Given the description of an element on the screen output the (x, y) to click on. 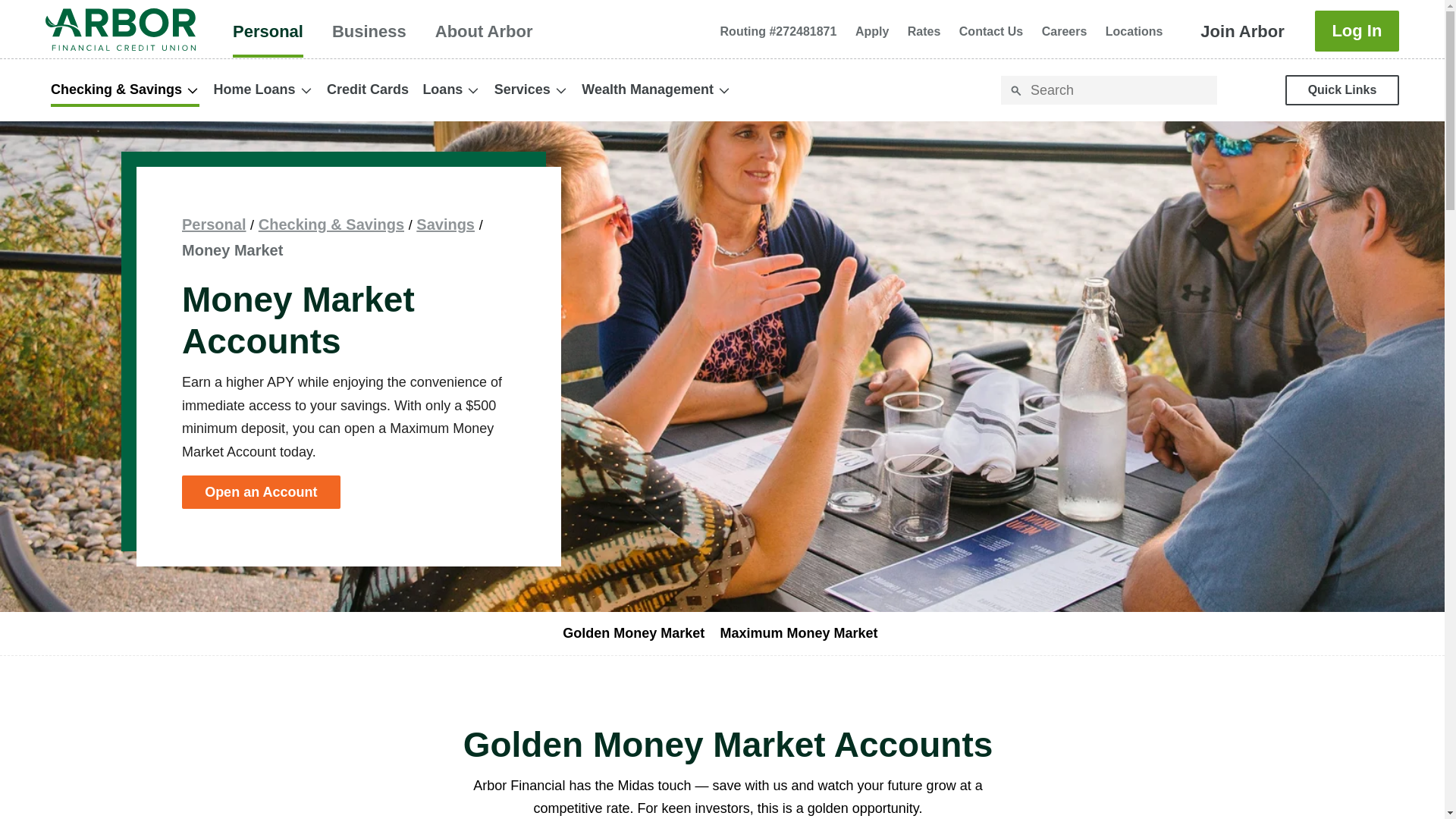
Log In (1356, 30)
Home Loans (262, 89)
Credit Cards (367, 89)
Business (368, 31)
Skip to main content (76, 29)
Apply (871, 31)
About Arbor (728, 633)
Loans (483, 31)
Personal (450, 89)
Rates (267, 31)
Open an Account (924, 31)
Careers (261, 492)
Contact Us (1063, 31)
Join Arbor (991, 31)
